Given the description of an element on the screen output the (x, y) to click on. 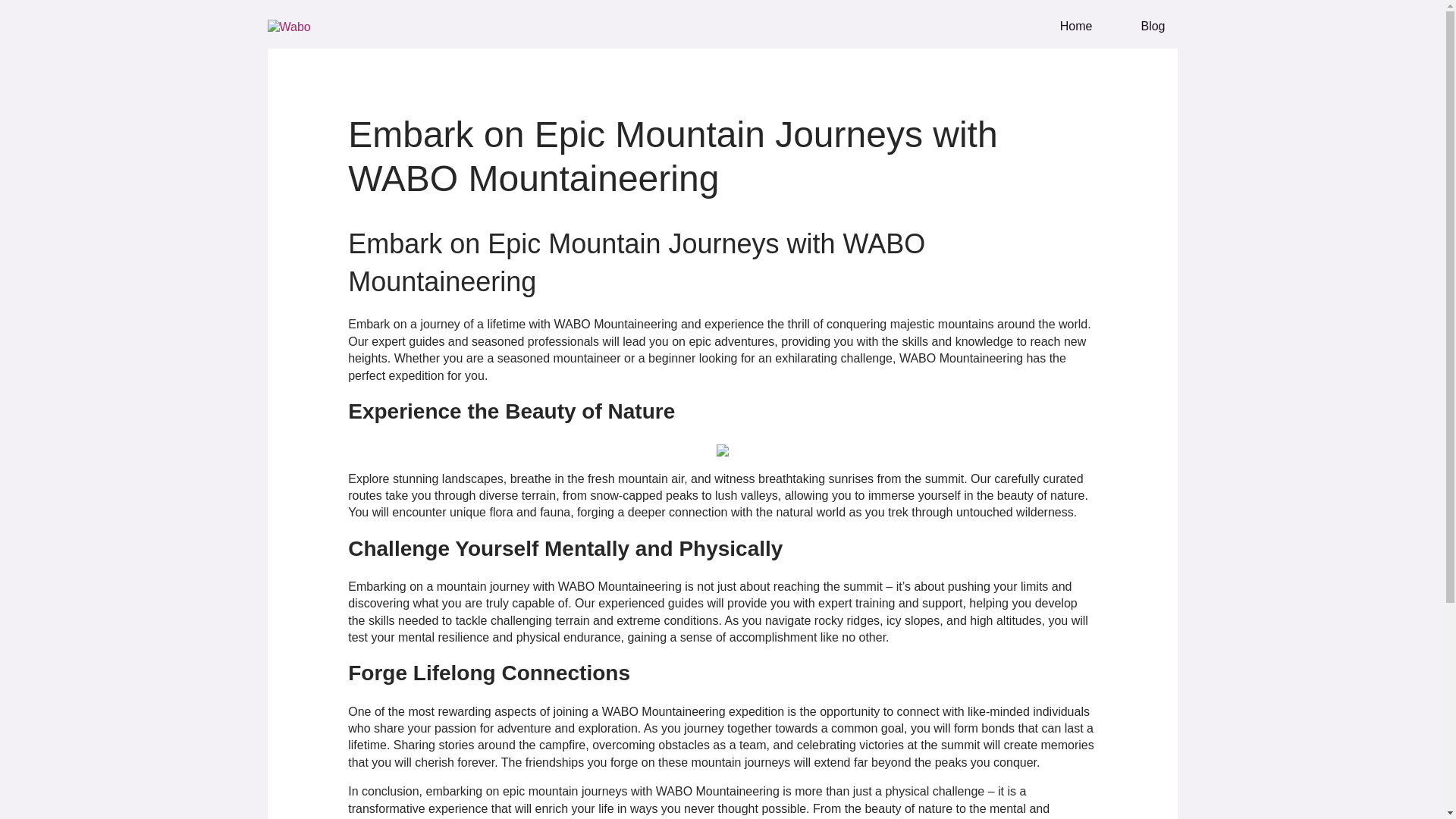
Home (1064, 25)
Blog (1139, 25)
